Given the description of an element on the screen output the (x, y) to click on. 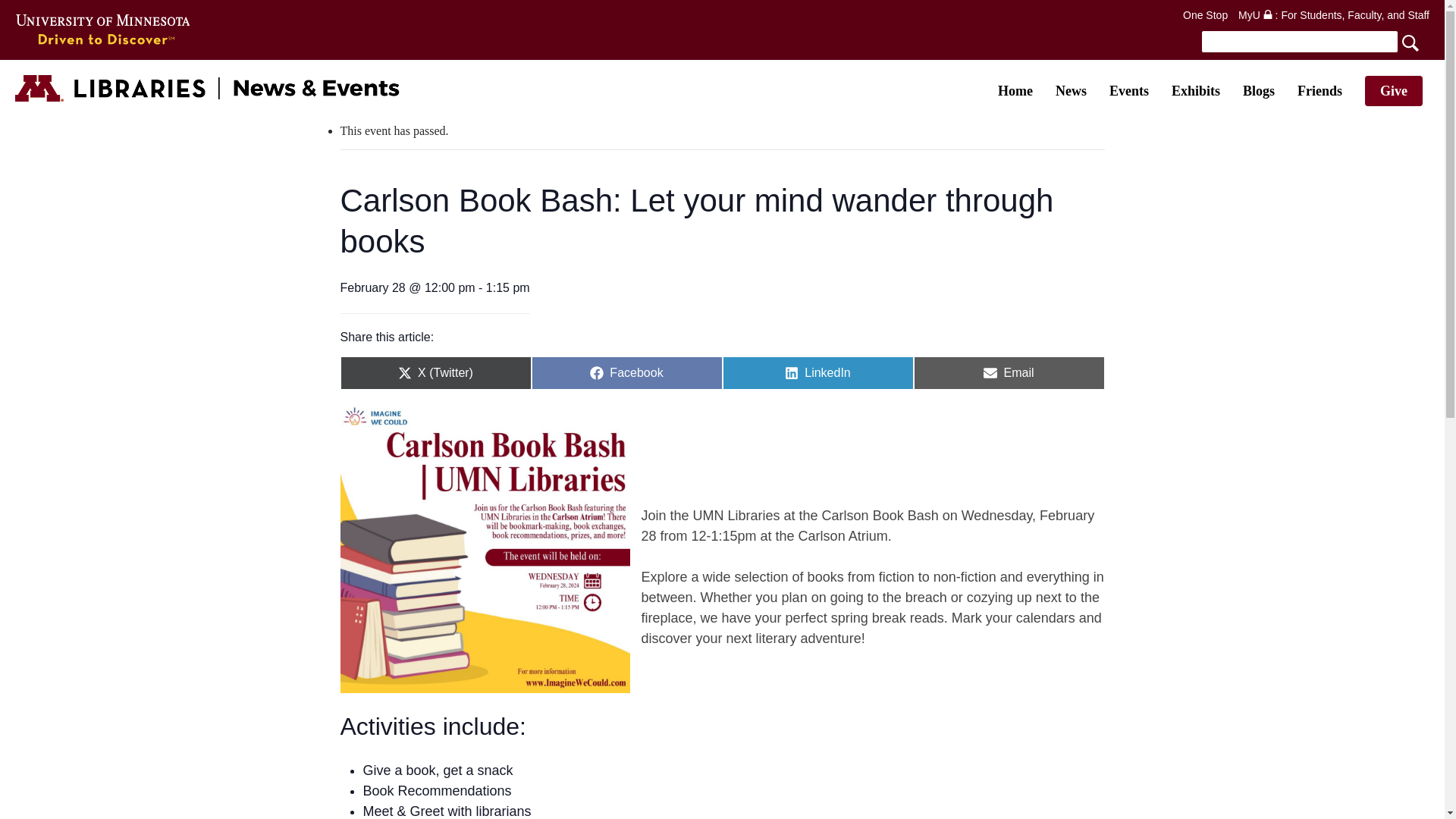
Exhibits (1196, 90)
MyU : For Students, Faculty, and Staff (1334, 15)
News (1070, 90)
Give (1393, 90)
One Stop (1204, 15)
Friends (1319, 90)
Search (1313, 41)
Home (1014, 90)
Events (1128, 90)
Blogs (1259, 90)
